Given the description of an element on the screen output the (x, y) to click on. 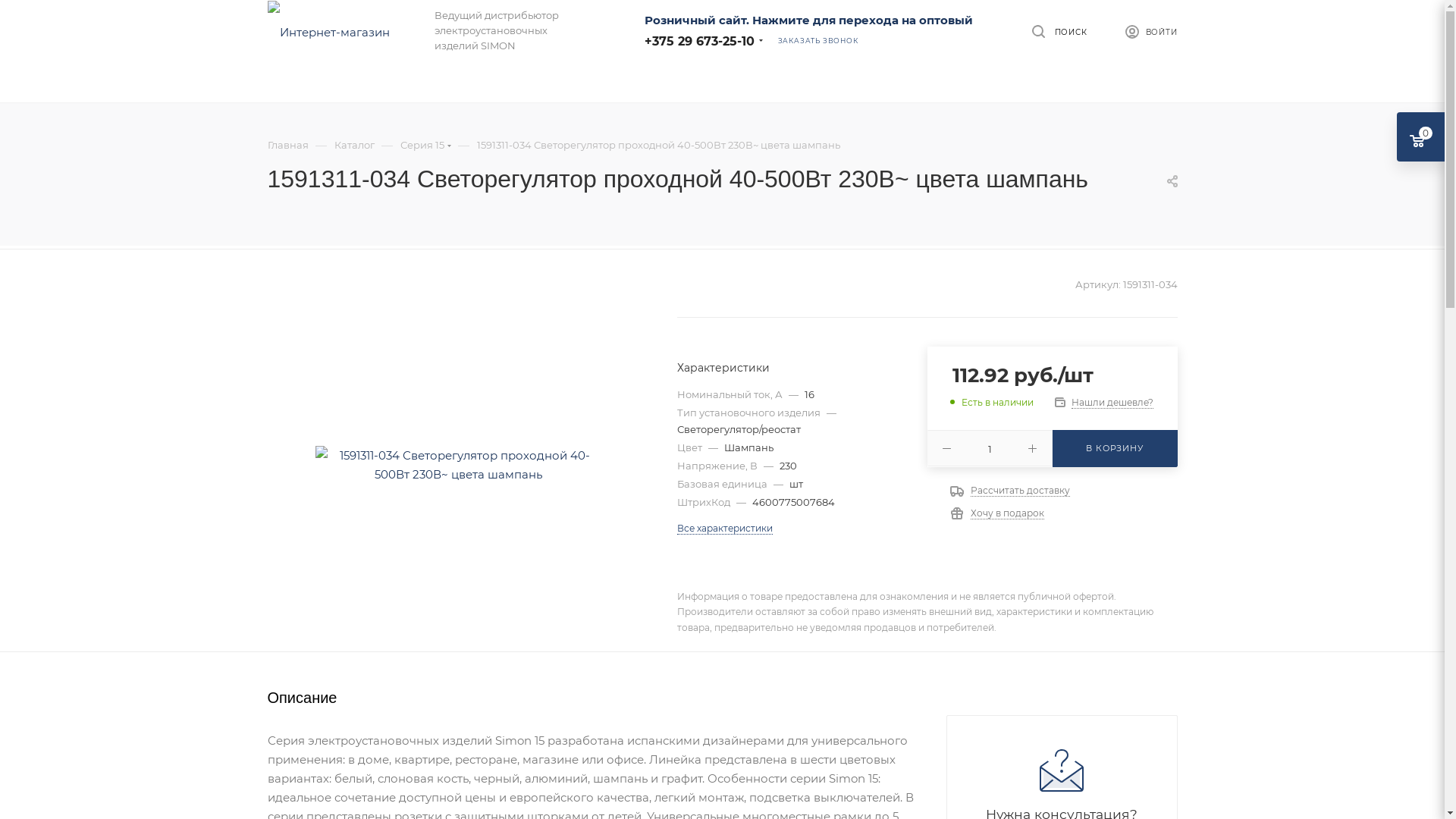
+375 29 673-25-10 Element type: text (699, 40)
